Given the description of an element on the screen output the (x, y) to click on. 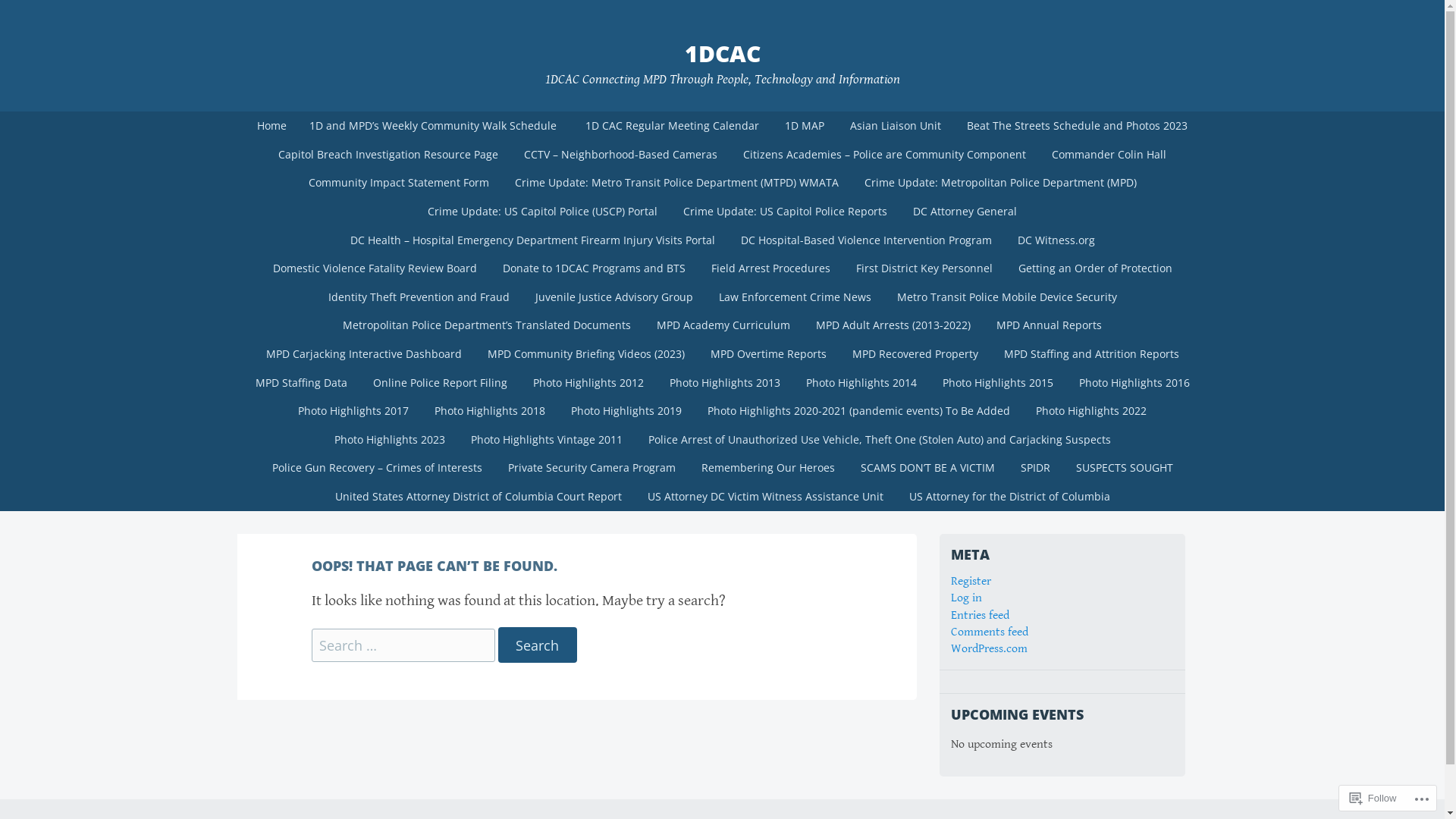
1D MAP Element type: text (804, 125)
DC Attorney General Element type: text (964, 211)
Register Element type: text (970, 581)
First District Key Personnel Element type: text (924, 268)
Photo Highlights 2023 Element type: text (389, 439)
Crime Update: US Capitol Police Reports Element type: text (784, 211)
MPD Annual Reports Element type: text (1049, 324)
MPD Staffing and Attrition Reports Element type: text (1090, 353)
SUSPECTS SOUGHT Element type: text (1124, 467)
Remembering Our Heroes Element type: text (768, 467)
Photo Highlights 2018 Element type: text (489, 410)
Photo Highlights 2017 Element type: text (353, 410)
Photo Highlights 2019 Element type: text (626, 410)
Crime Update: Metro Transit Police Department (MTPD) WMATA Element type: text (676, 182)
Photo Highlights 2012 Element type: text (588, 382)
US Attorney DC Victim Witness Assistance Unit Element type: text (764, 496)
US Attorney for the District of Columbia Element type: text (1009, 496)
Getting an Order of Protection Element type: text (1095, 268)
Photo Highlights 2020-2021 (pandemic events) To Be Added Element type: text (858, 410)
MPD Adult Arrests (2013-2022) Element type: text (893, 324)
Asian Liaison Unit Element type: text (895, 125)
Beat The Streets Schedule and Photos 2023 Element type: text (1076, 125)
1DCAC Element type: text (721, 53)
Comments feed Element type: text (989, 631)
MPD Academy Curriculum Element type: text (723, 324)
1D CAC Regular Meeting Calendar Element type: text (672, 125)
MPD Recovered Property Element type: text (914, 353)
Identity Theft Prevention and Fraud Element type: text (418, 296)
United States Attorney District of Columbia Court Report Element type: text (477, 496)
Online Police Report Filing Element type: text (438, 382)
Search Element type: text (536, 645)
Photo Highlights 2015 Element type: text (997, 382)
Home Element type: text (271, 125)
DC Hospital-Based Violence Intervention Program Element type: text (866, 239)
Donate to 1DCAC Programs and BTS Element type: text (593, 268)
Photo Highlights 2013 Element type: text (724, 382)
MPD Staffing Data Element type: text (301, 382)
Law Enforcement Crime News Element type: text (793, 296)
Domestic Violence Fatality Review Board Element type: text (373, 268)
Field Arrest Procedures Element type: text (769, 268)
Private Security Camera Program Element type: text (590, 467)
SPIDR Element type: text (1034, 467)
Follow Element type: text (1372, 797)
Photo Highlights 2014 Element type: text (861, 382)
DC Witness.org Element type: text (1055, 239)
Community Impact Statement Form Element type: text (398, 182)
MPD Overtime Reports Element type: text (768, 353)
Log in Element type: text (966, 597)
Photo Highlights 2016 Element type: text (1134, 382)
Capitol Breach Investigation Resource Page Element type: text (387, 154)
Photo Highlights 2022 Element type: text (1090, 410)
Commander Colin Hall Element type: text (1108, 154)
MPD Carjacking Interactive Dashboard Element type: text (363, 353)
Juvenile Justice Advisory Group Element type: text (613, 296)
MPD Community Briefing Videos (2023) Element type: text (586, 353)
Metro Transit Police Mobile Device Security Element type: text (1006, 296)
Entries feed Element type: text (979, 615)
Photo Highlights Vintage 2011 Element type: text (546, 439)
WordPress.com Element type: text (988, 648)
Crime Update: Metropolitan Police Department (MPD) Element type: text (999, 182)
Crime Update: US Capitol Police (USCP) Portal Element type: text (542, 211)
